Given the description of an element on the screen output the (x, y) to click on. 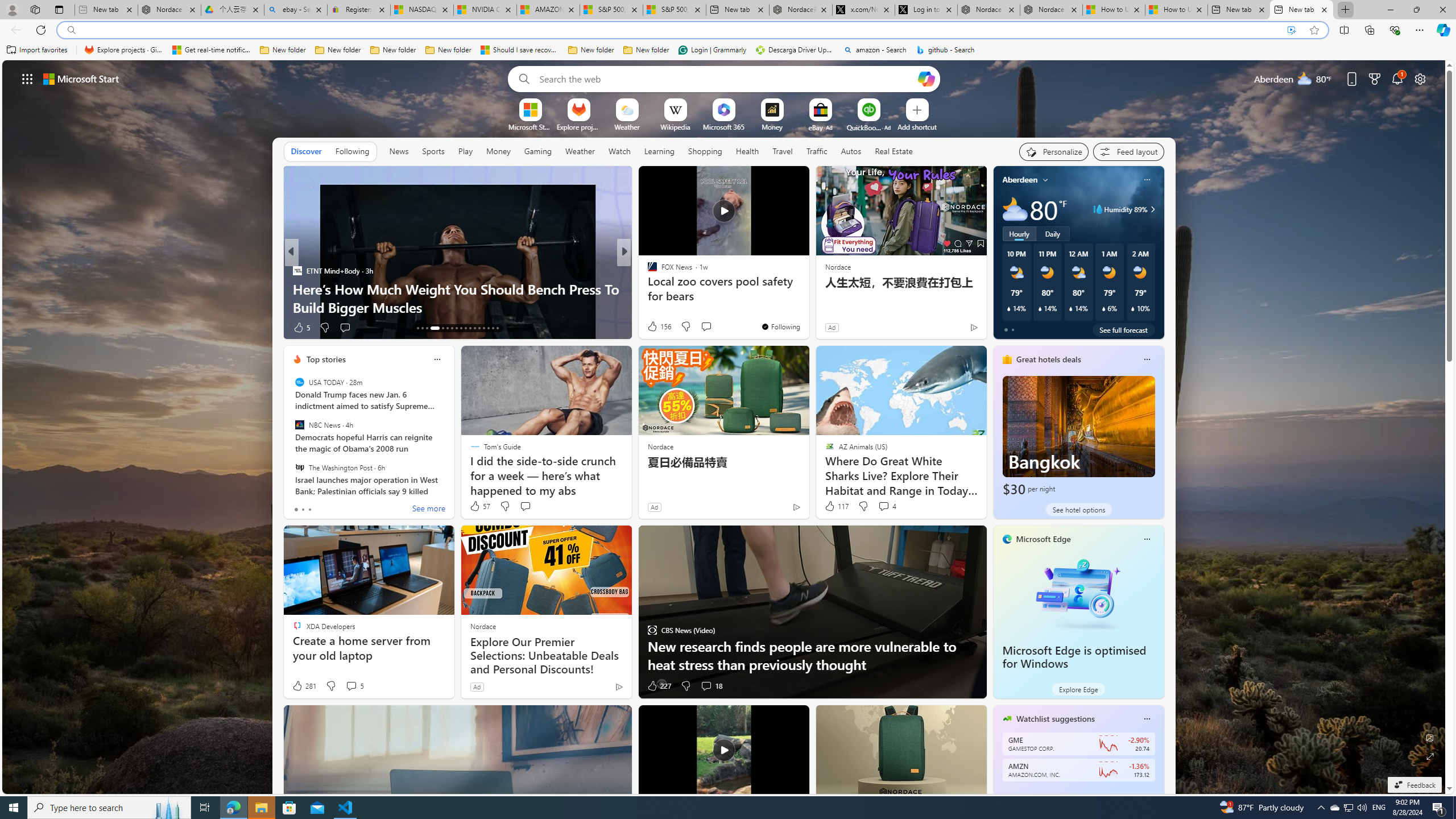
88 Like (652, 327)
281 Like (303, 685)
See hotel options (1078, 509)
NBC News (299, 424)
117 Like (835, 505)
FailArmy (647, 288)
AutomationID: tab-27 (488, 328)
